Given the description of an element on the screen output the (x, y) to click on. 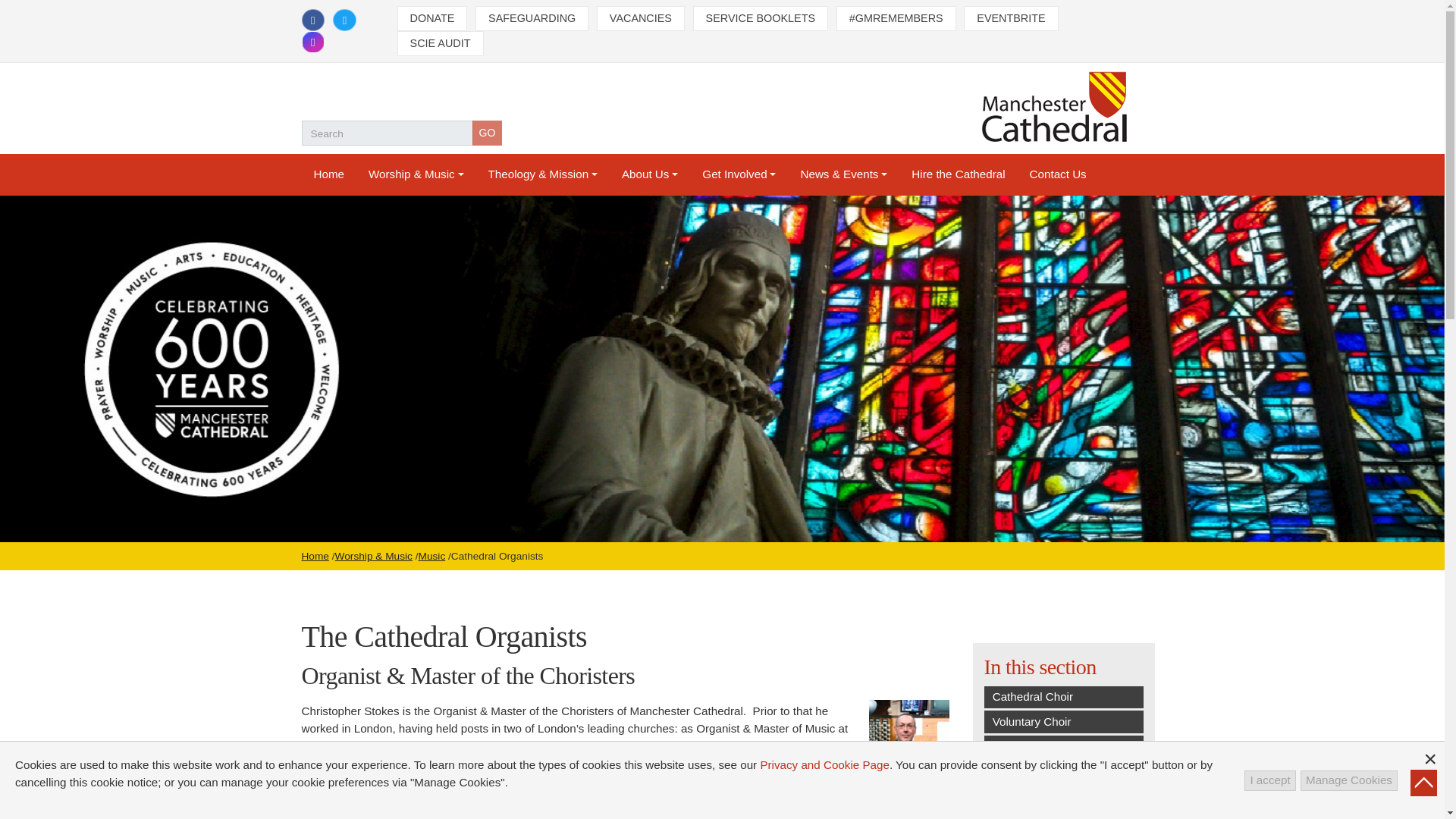
Connect with Manchester Cathedral on Facebook (312, 20)
Connect with Manchester Cathedral on Instagram (312, 42)
link to home page (1050, 106)
SCIE AUDIT (440, 43)
Safeguarding (532, 18)
SERVICE BOOKLETS (760, 18)
SCIE audit (440, 43)
EVENTBRITE (1010, 18)
Eventbrite (1010, 18)
Service Booklets (760, 18)
Connect with Manchester Cathedral on Twitter (344, 20)
Home (328, 174)
Donating (432, 18)
VACANCIES (640, 18)
Vacancies (640, 18)
